Given the description of an element on the screen output the (x, y) to click on. 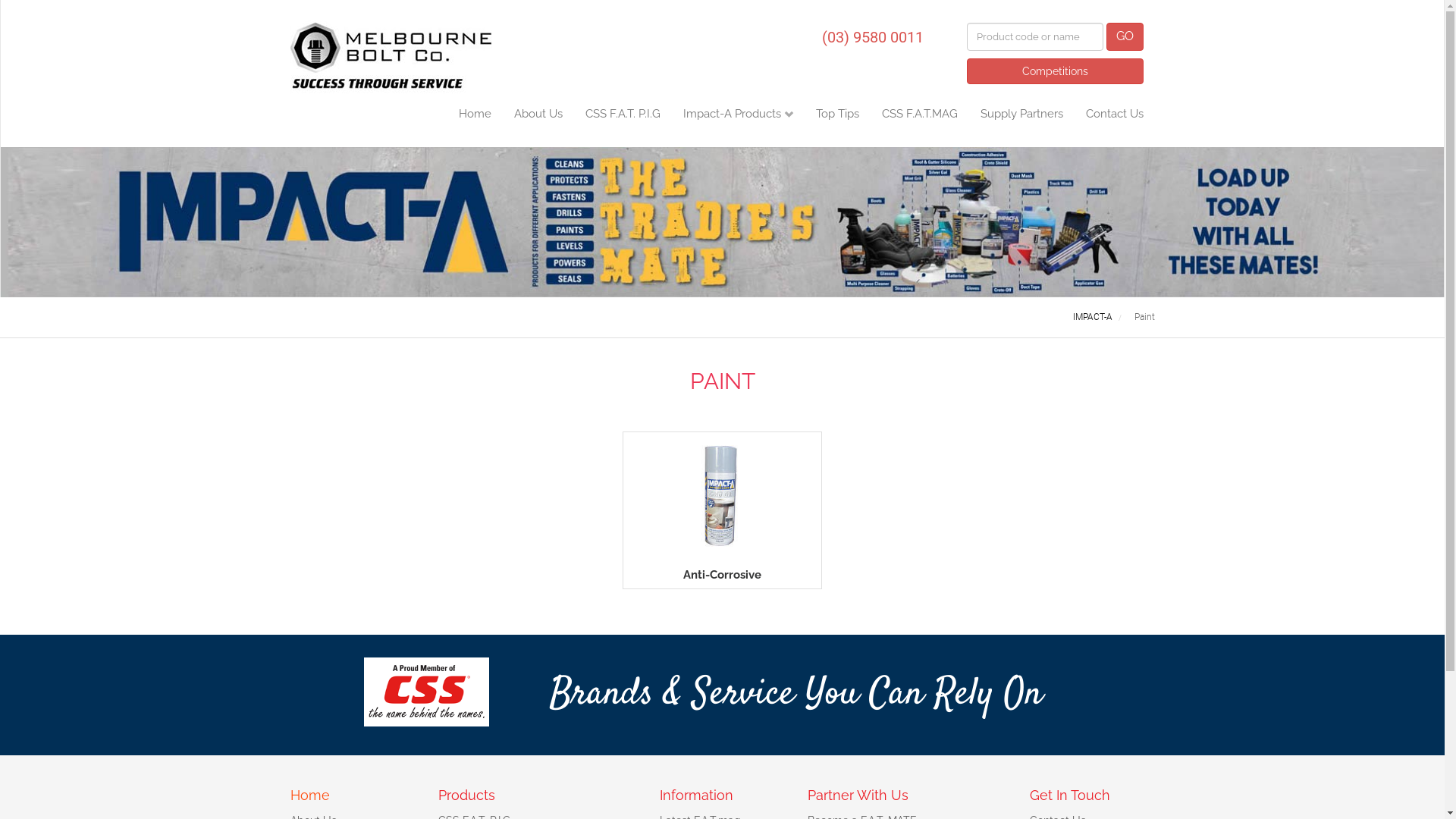
Competitions Element type: text (1054, 71)
IMPACT-A Element type: text (1092, 316)
Home Element type: text (309, 795)
GO Element type: text (1123, 36)
Supply Partners Element type: text (1021, 120)
CSS F.A.T.MAG Element type: text (919, 120)
Contact Us Element type: text (1113, 120)
CSS F.A.T. P.I.G Element type: text (622, 120)
(03) 9580 0011 Element type: text (872, 35)
Anti-Corrosive Element type: text (722, 510)
Home Element type: text (474, 120)
About Us Element type: text (537, 120)
Impact-A Products Element type: text (737, 120)
Top Tips Element type: text (836, 120)
